Given the description of an element on the screen output the (x, y) to click on. 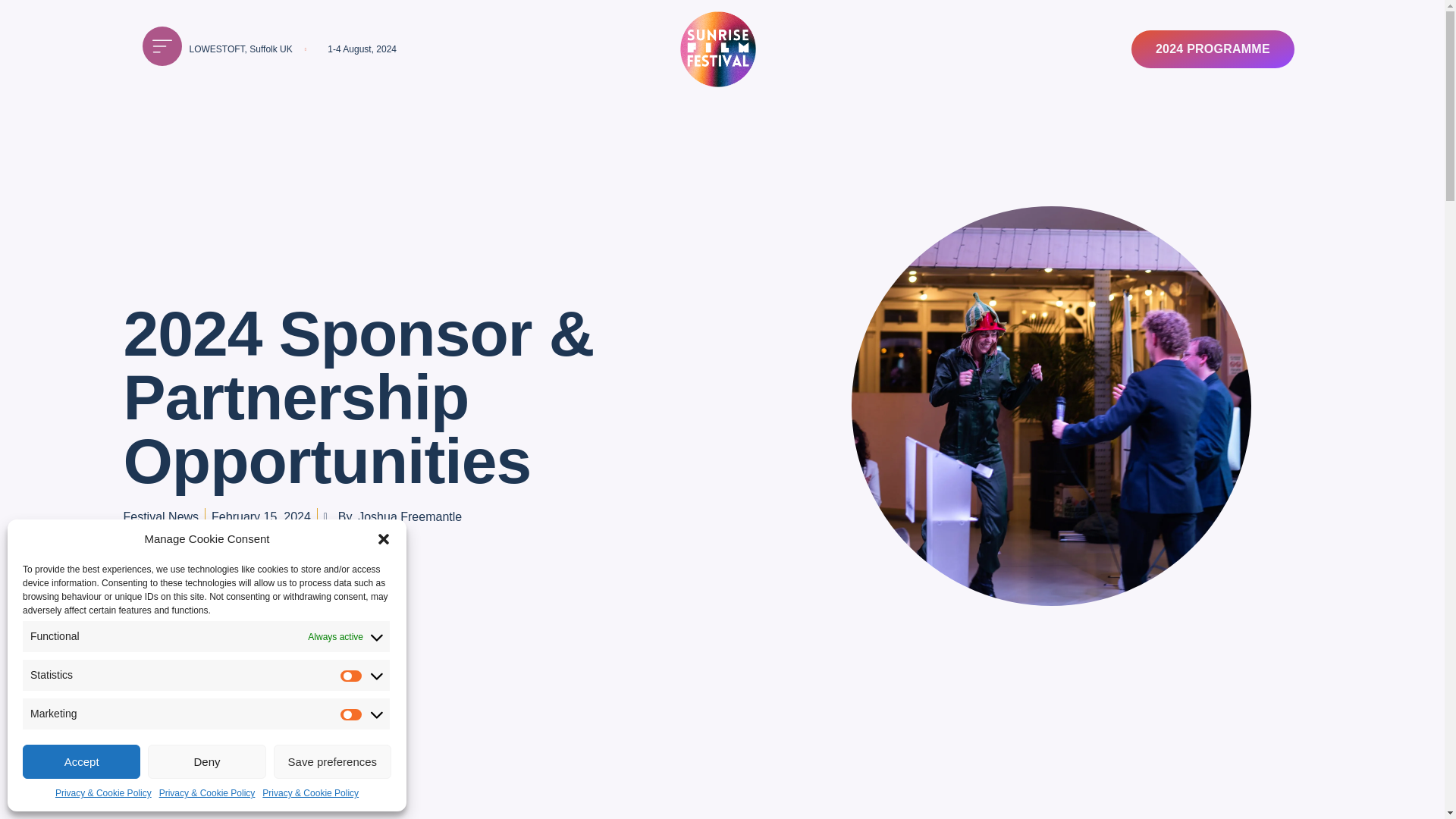
2024 PROGRAMME (1212, 49)
Deny (206, 761)
Save preferences (332, 761)
Accept (81, 761)
